Given the description of an element on the screen output the (x, y) to click on. 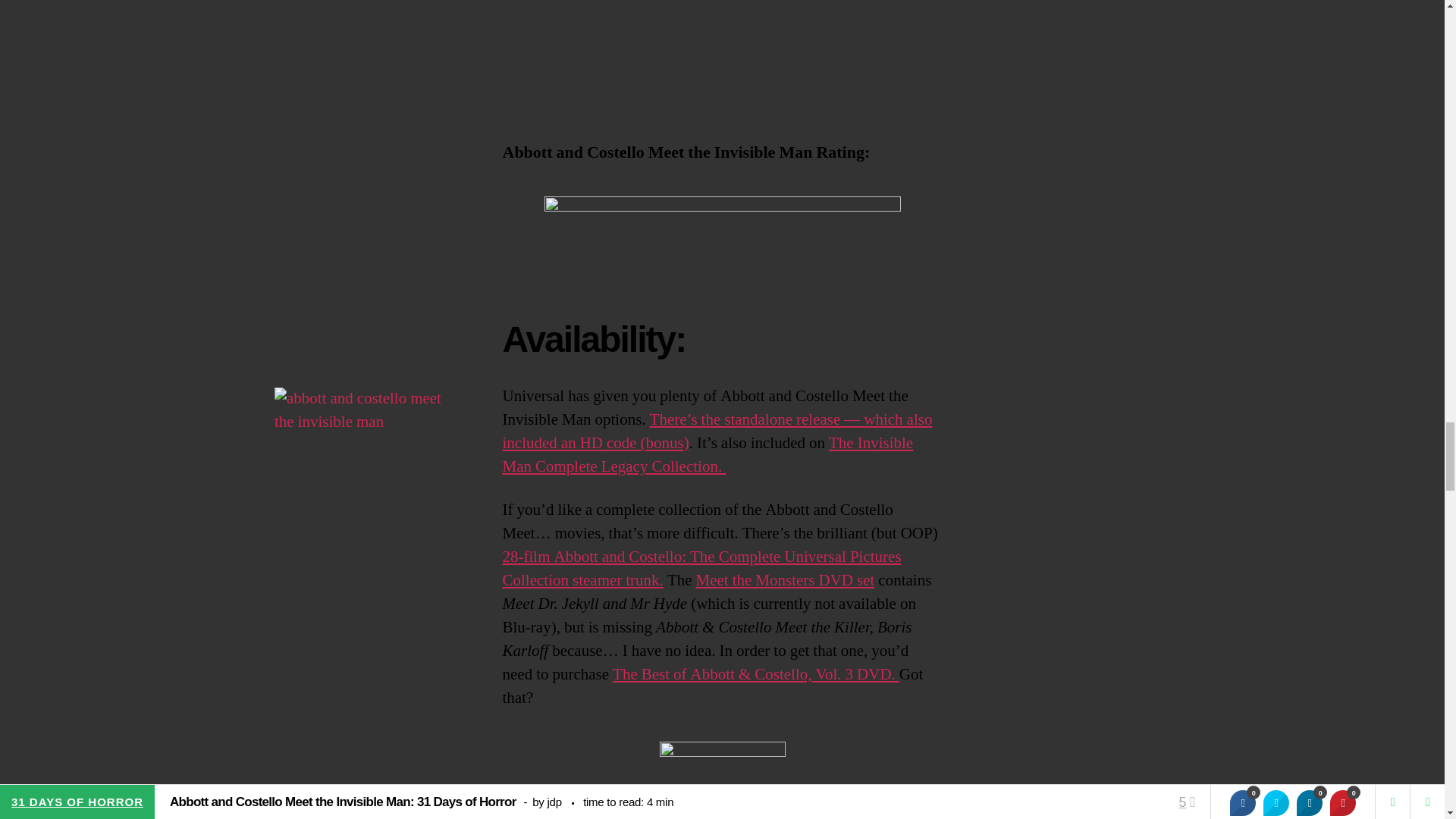
Meet the Monsters DVD set (785, 580)
The Invisible Man Complete Legacy Collection.  (707, 454)
